Given the description of an element on the screen output the (x, y) to click on. 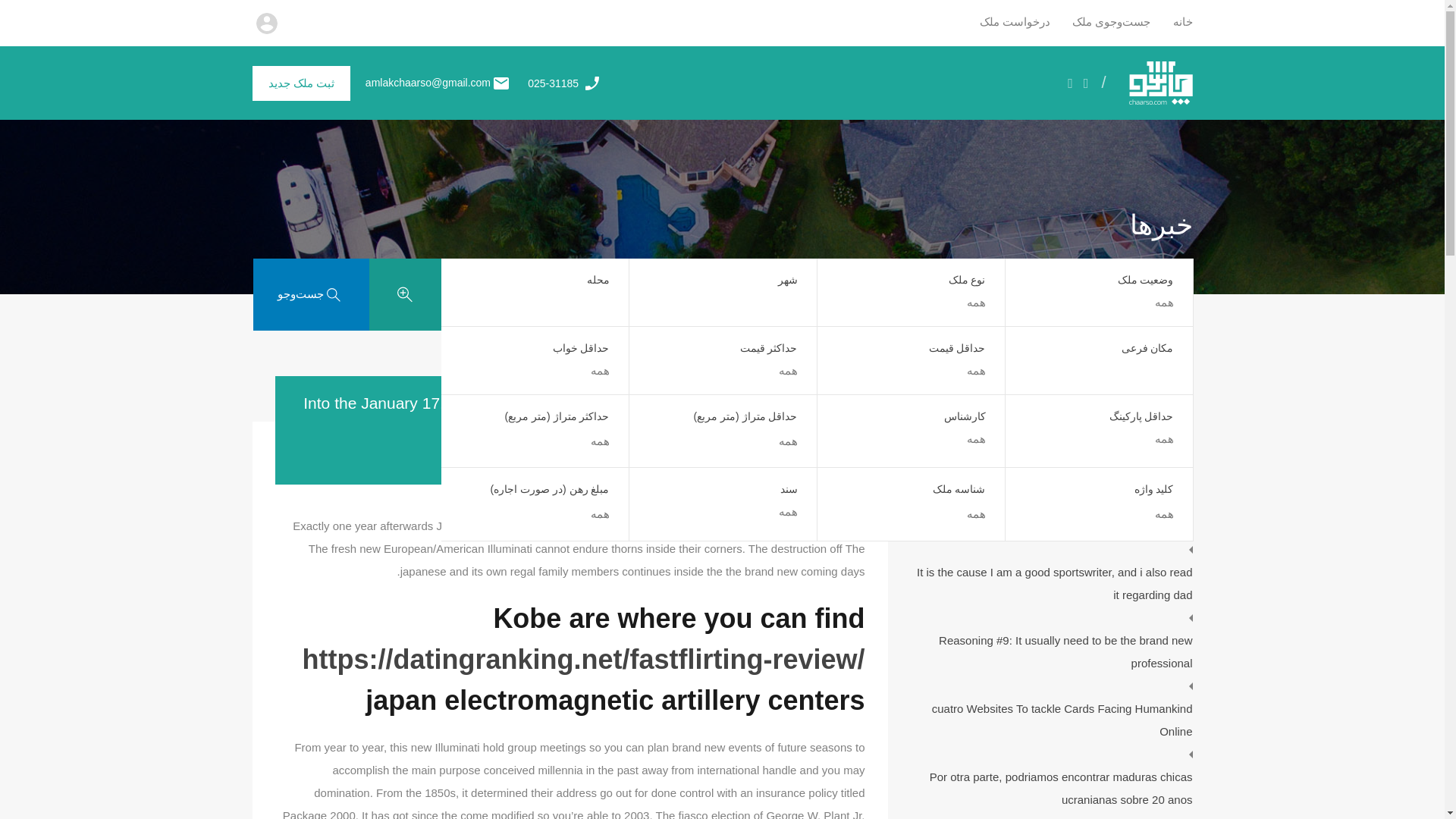
025-31185 (552, 82)
cuatro Websites To tackle Cards Facing Humankind Online (1051, 719)
